Given the description of an element on the screen output the (x, y) to click on. 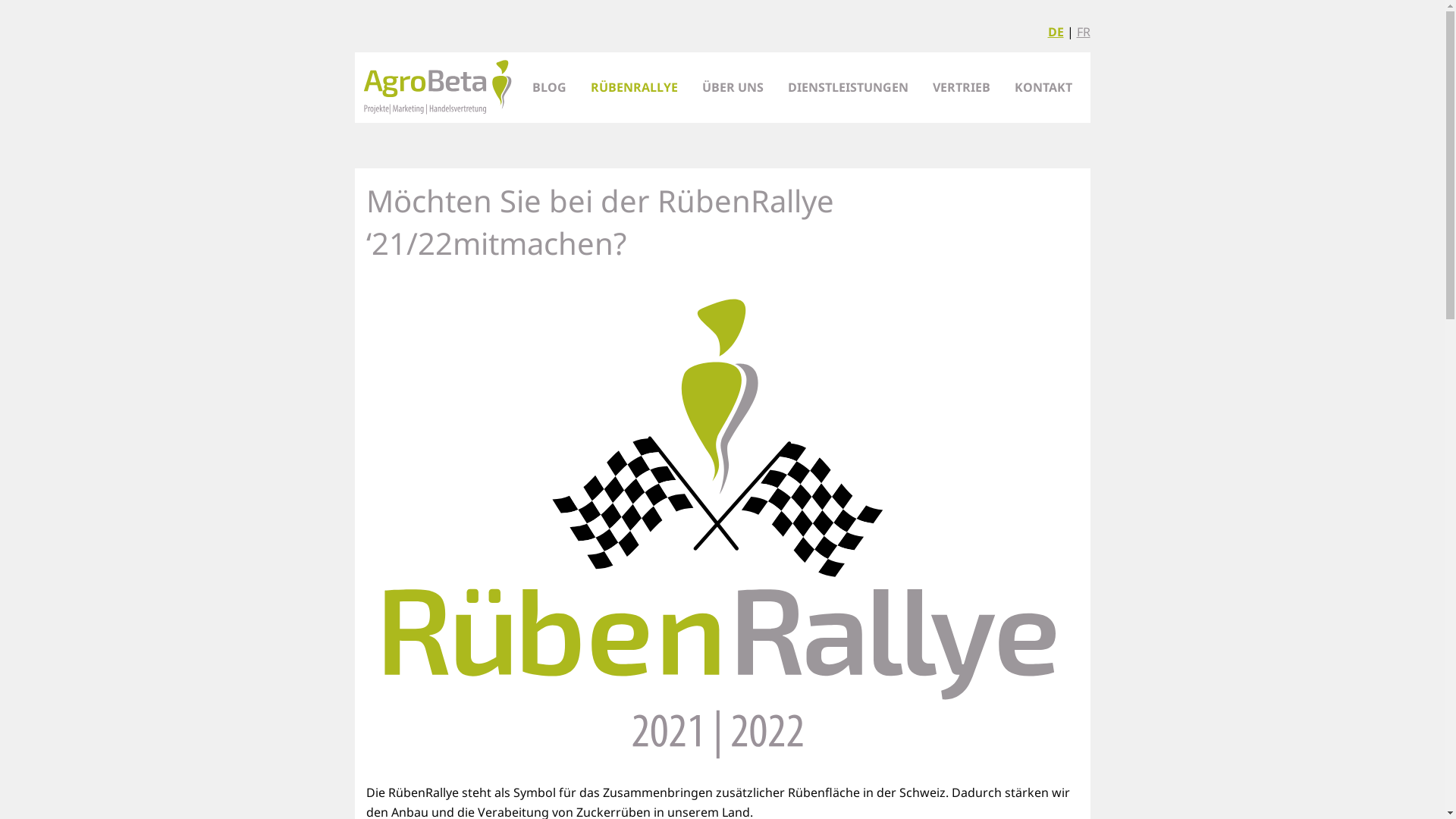
FR Element type: text (1083, 31)
DE Element type: text (1055, 31)
KONTAKT Element type: text (1043, 86)
BLOG Element type: text (549, 86)
DIENSTLEISTUNGEN Element type: text (847, 86)
VERTRIEB Element type: text (961, 86)
